Given the description of an element on the screen output the (x, y) to click on. 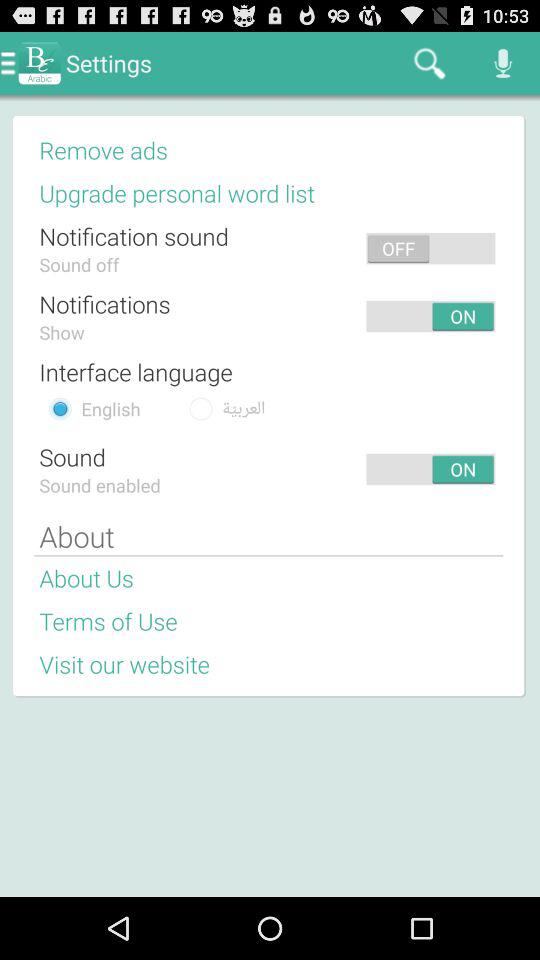
select item above the about app (261, 468)
